Given the description of an element on the screen output the (x, y) to click on. 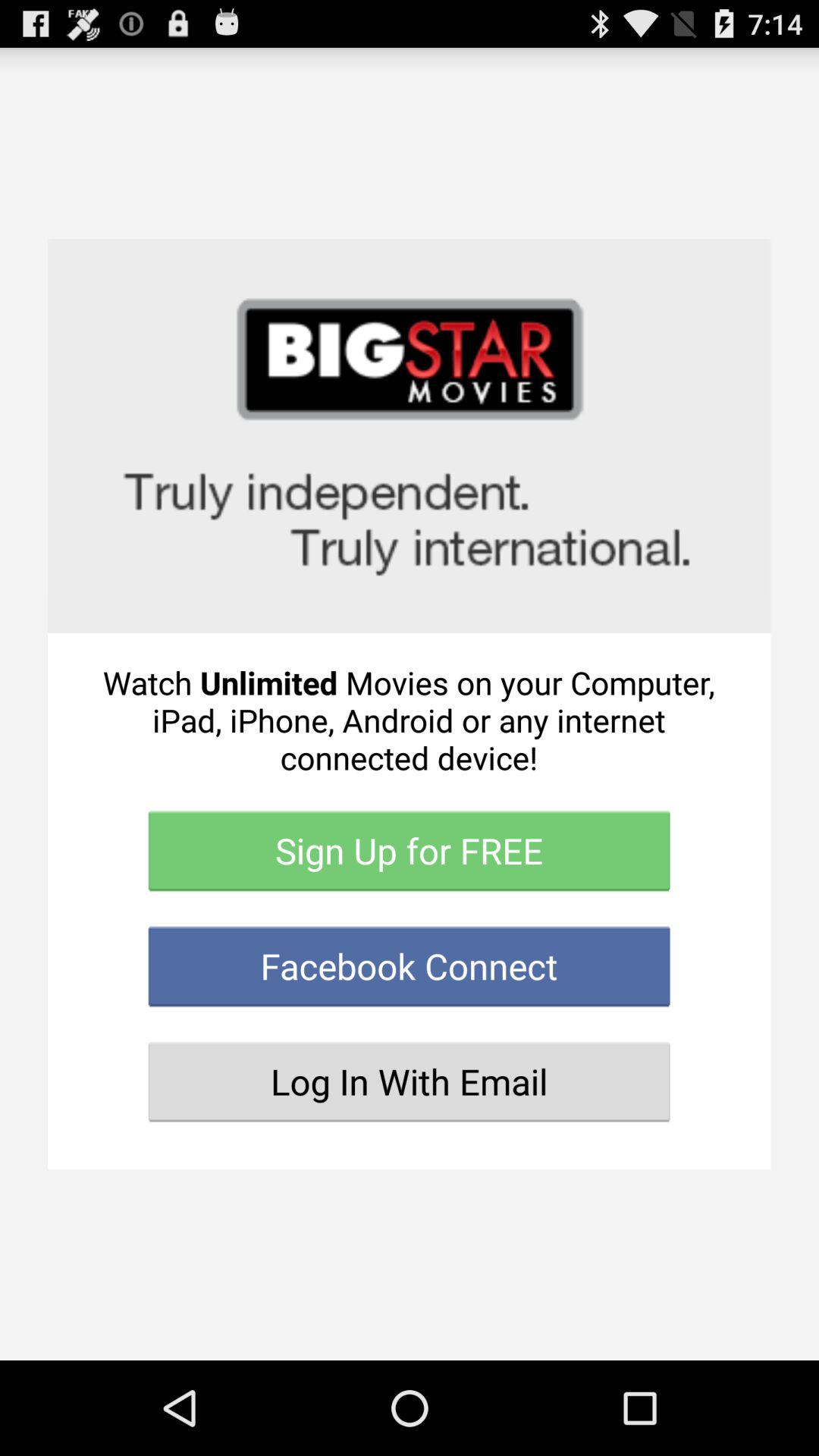
press sign up for (408, 850)
